Given the description of an element on the screen output the (x, y) to click on. 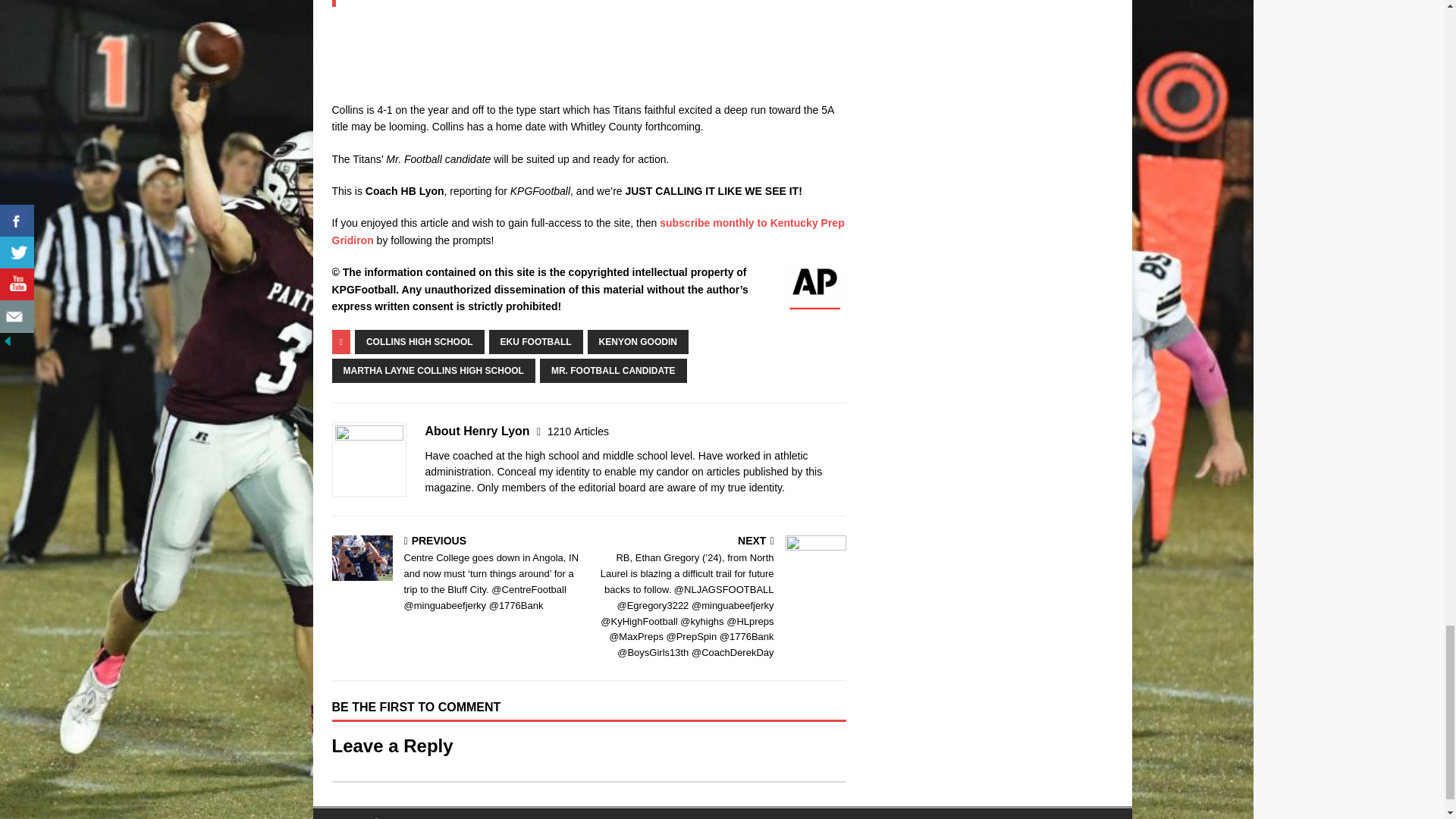
KENYON GOODIN (638, 341)
COLLINS HIGH SCHOOL (419, 341)
subscribe monthly to Kentucky Prep Gridiron (587, 231)
1210 Articles (577, 431)
MR. FOOTBALL CANDIDATE (613, 370)
MARTHA LAYNE COLLINS HIGH SCHOOL (433, 370)
More articles written by Henry Lyon' (577, 431)
EKU FOOTBALL (536, 341)
